Given the description of an element on the screen output the (x, y) to click on. 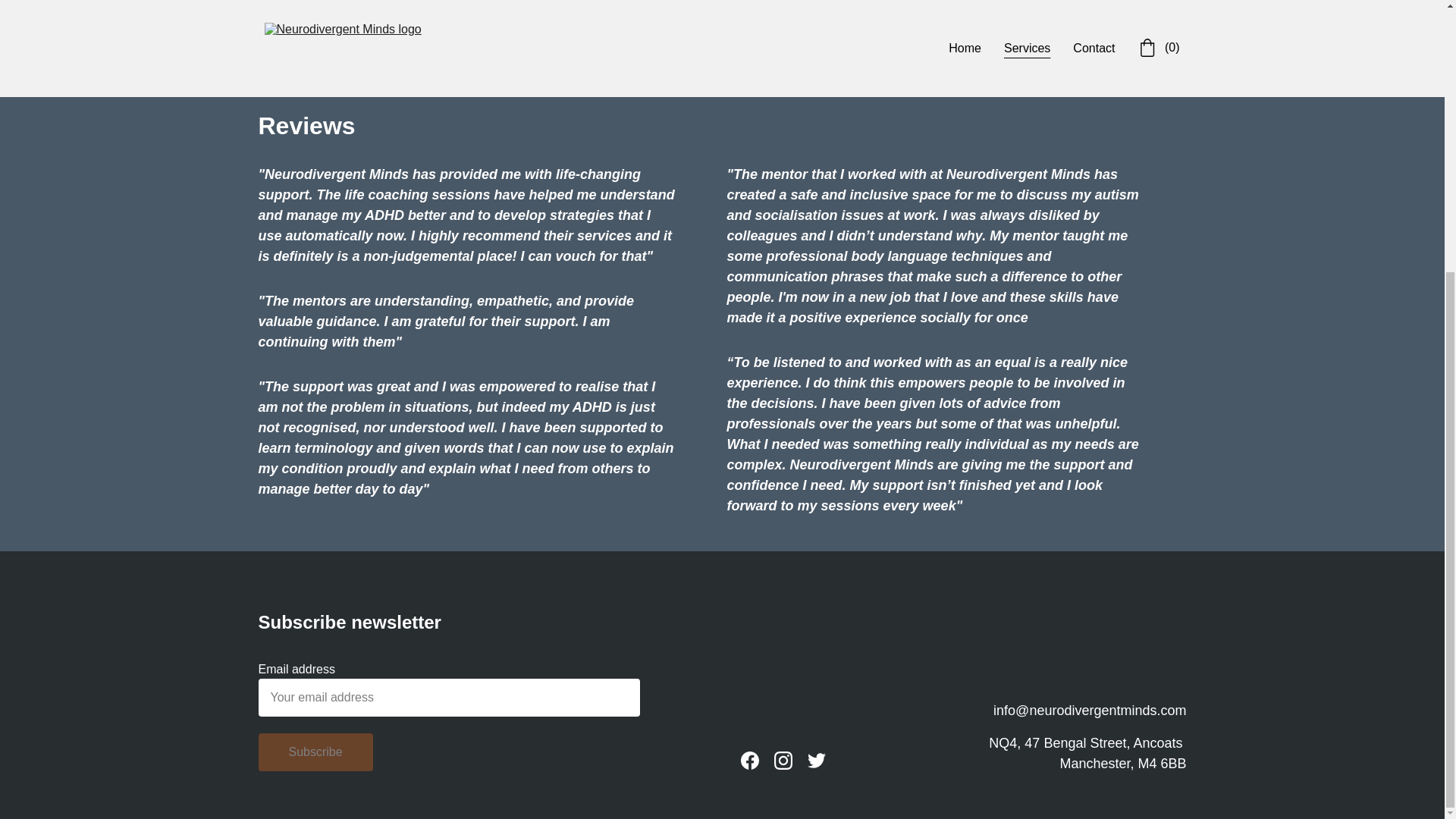
Go to Instagram page (783, 760)
Go to Facebook page (749, 760)
Go to Twitter page (816, 760)
Subscribe (314, 752)
